Given the description of an element on the screen output the (x, y) to click on. 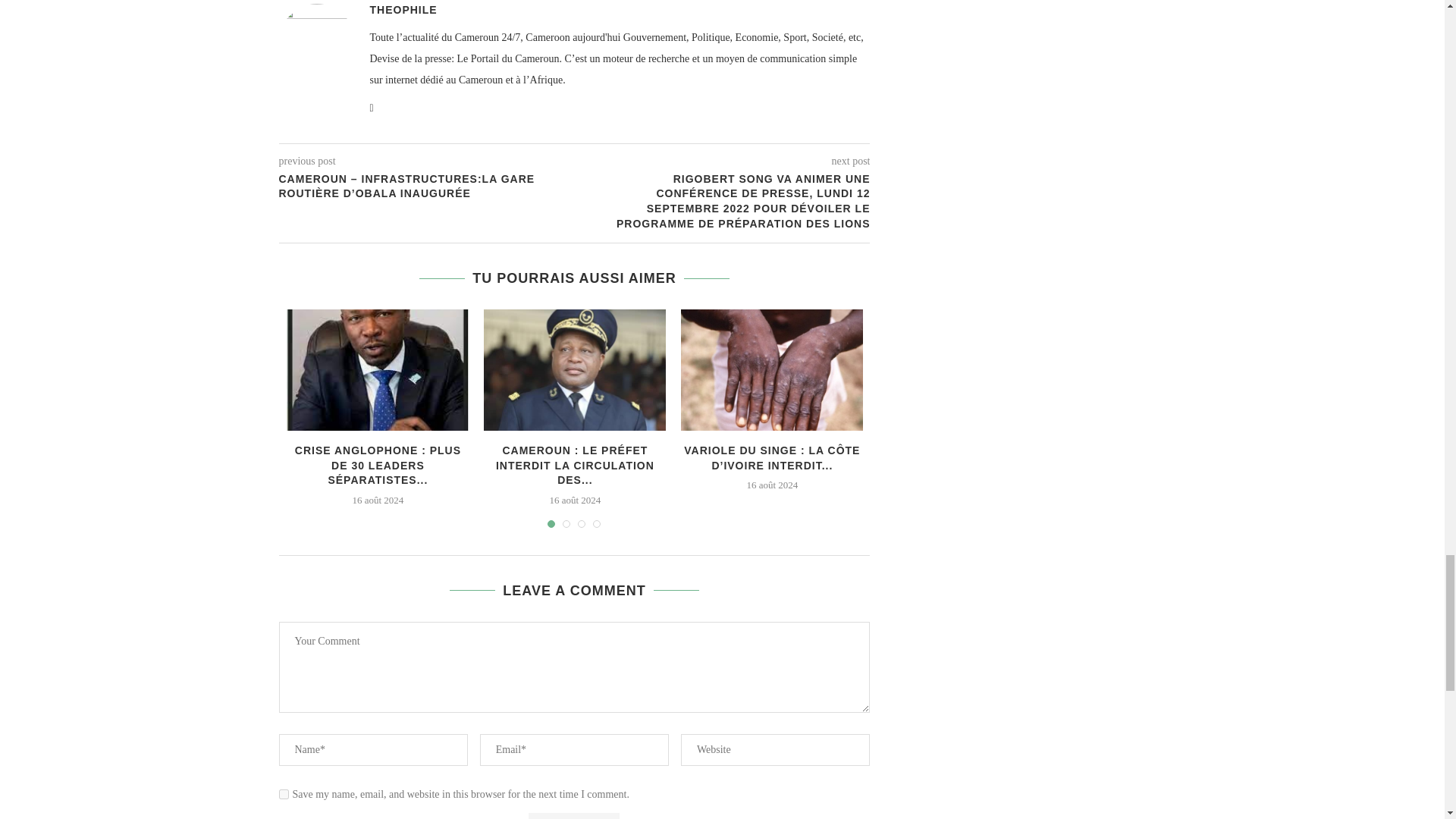
Submit (574, 816)
THEOPHILE (403, 9)
Author Theophile (403, 9)
yes (283, 794)
